Given the description of an element on the screen output the (x, y) to click on. 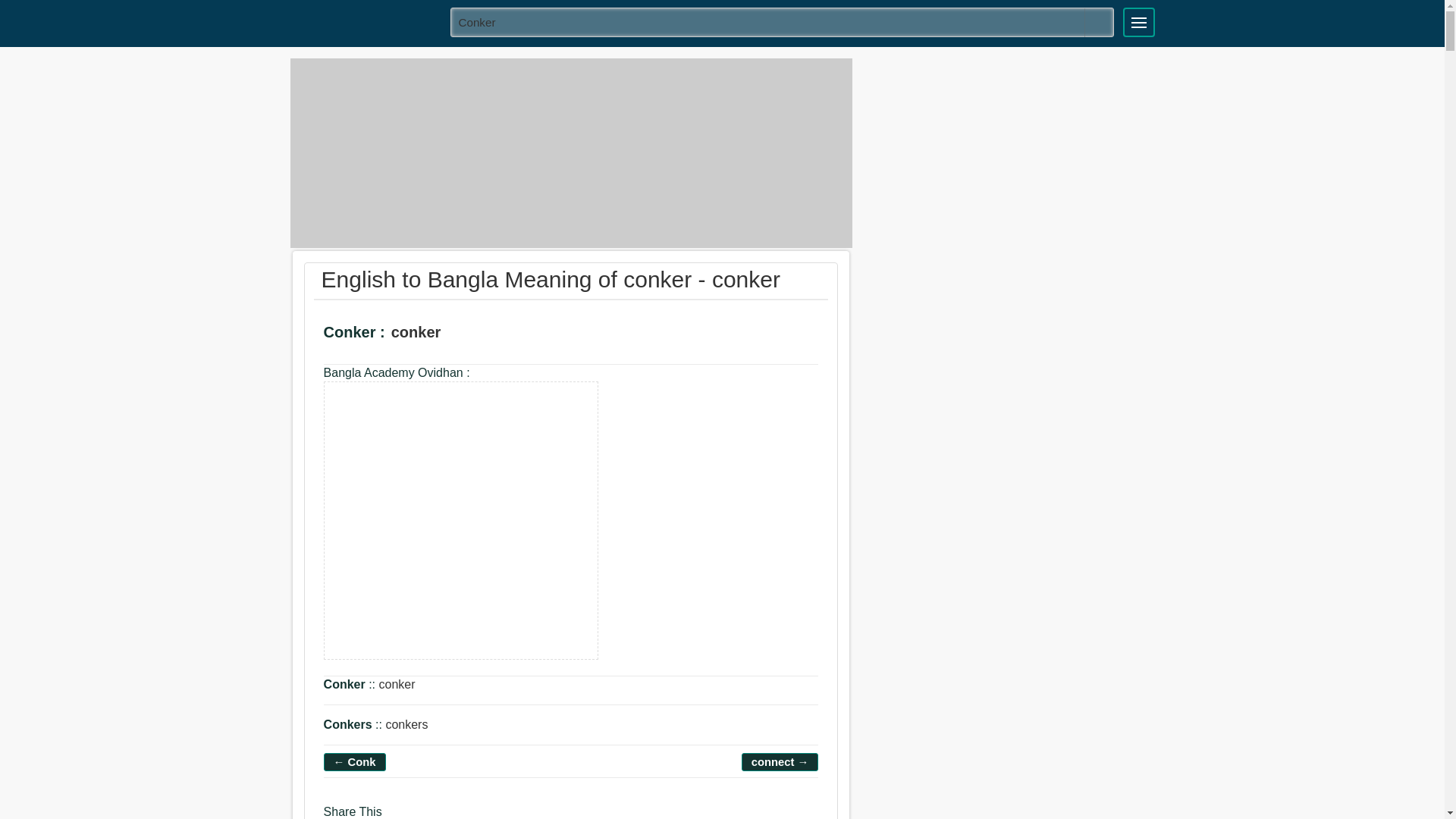
English to Bangla meaning of conk (354, 761)
conker (460, 519)
Say The Word (465, 334)
Twitter (428, 816)
Linkedin (458, 816)
conker (782, 21)
Search (1098, 22)
Facebook (398, 816)
BDWORD (365, 20)
Add To Favorites (508, 334)
English to Bangla meaning of connect (780, 761)
More Share (485, 816)
